Given the description of an element on the screen output the (x, y) to click on. 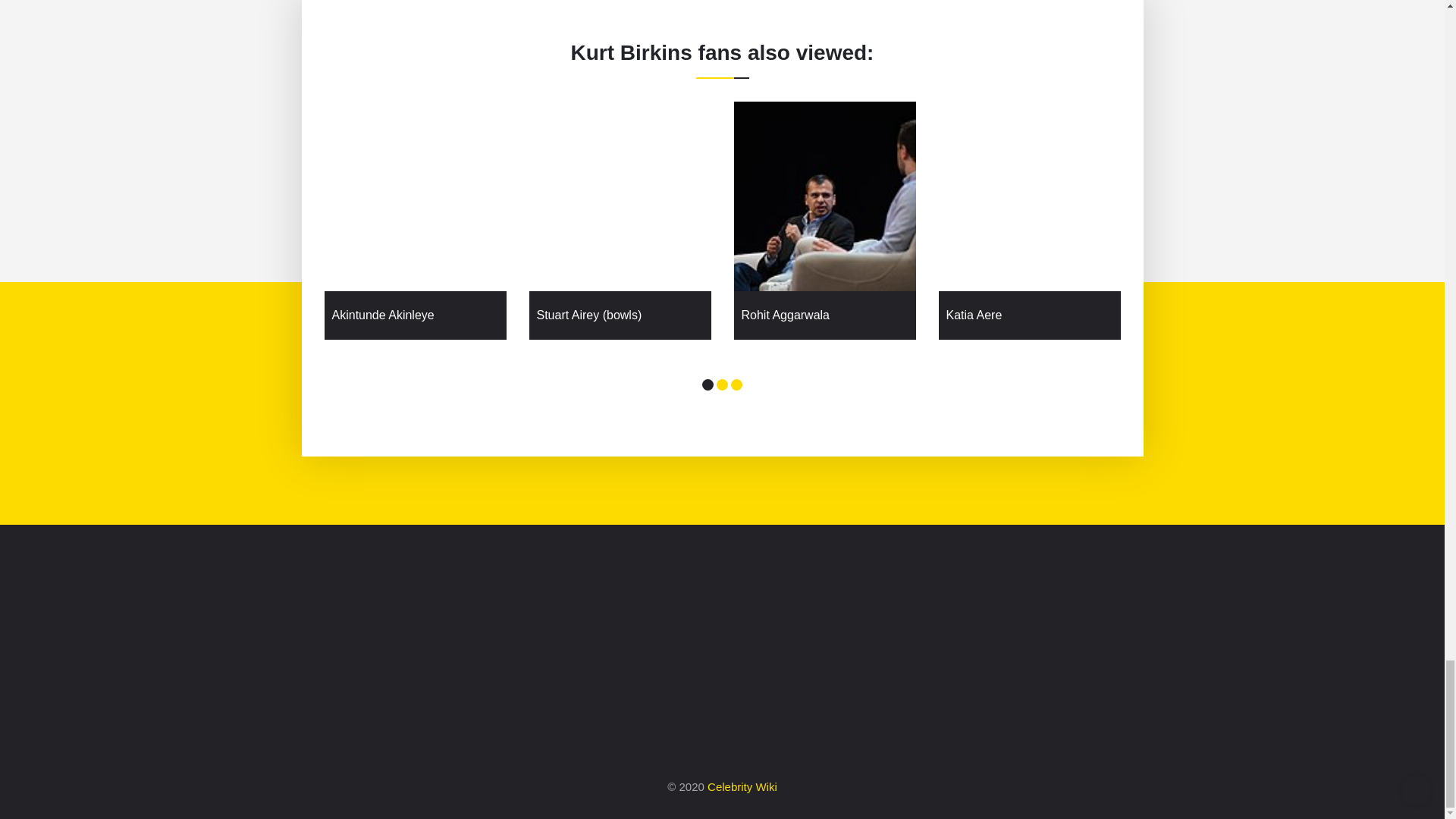
Rohit Aggarwala (824, 315)
Akintunde Akinleye (415, 315)
Katia Aere (1029, 315)
